Given the description of an element on the screen output the (x, y) to click on. 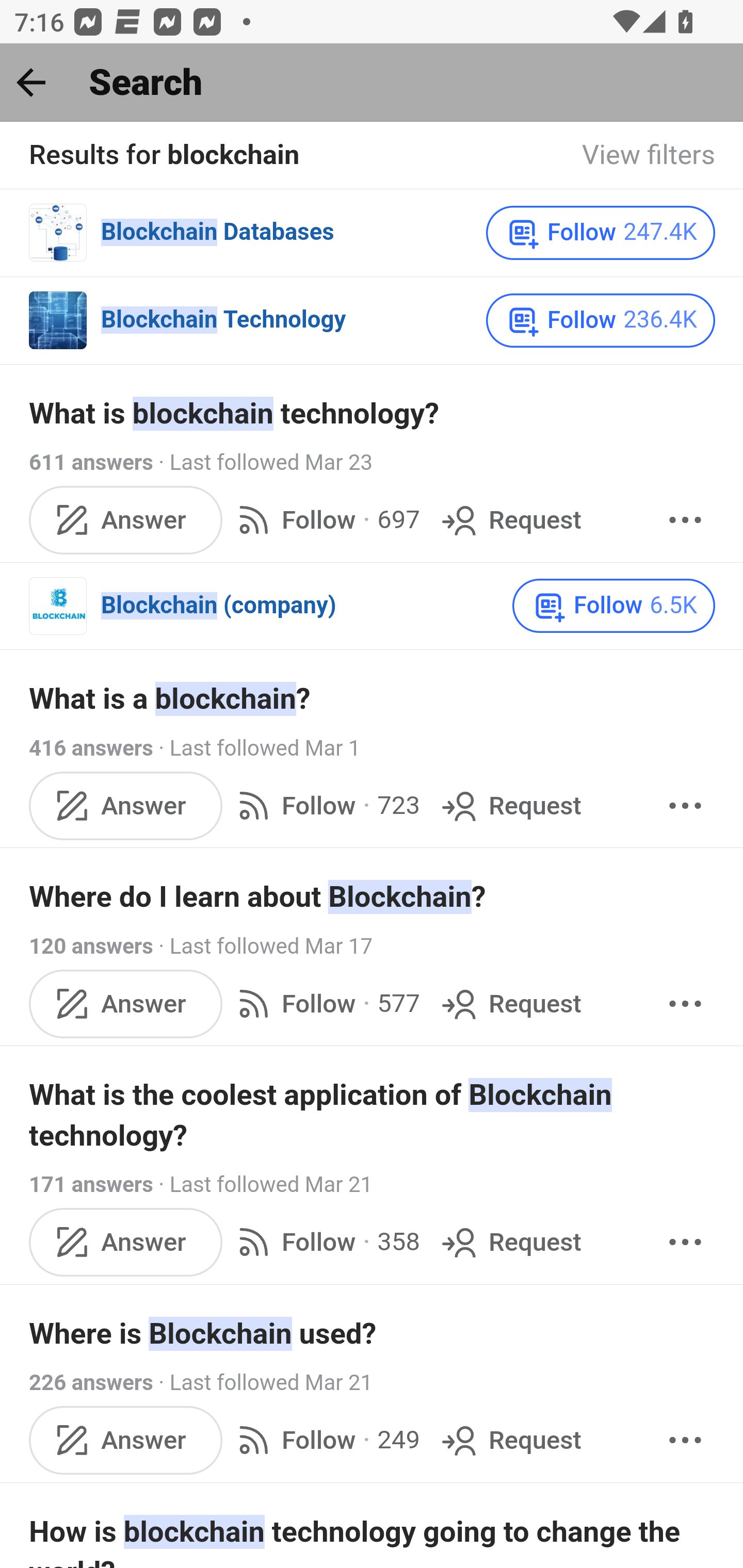
Back Search (371, 82)
Back (30, 82)
View filters (648, 155)
Follow 247.4K (599, 232)
Follow 236.4K (599, 320)
What is blockchain technology? (372, 413)
611 answers 611  answers (90, 463)
Answer (125, 519)
Follow · 697 (324, 519)
Request (509, 519)
More (684, 519)
Follow 6.5K (613, 606)
What is a blockchain? (372, 699)
416 answers 416  answers (90, 748)
Answer (125, 805)
Follow · 723 (324, 805)
Request (509, 805)
More (684, 805)
Where do I learn about Blockchain? (372, 896)
120 answers 120  answers (90, 946)
Answer (125, 1002)
Follow · 577 (324, 1002)
Request (509, 1002)
More (684, 1002)
171 answers 171  answers (90, 1185)
Answer (125, 1240)
Follow · 358 (324, 1240)
Request (509, 1240)
More (684, 1240)
Where is Blockchain used? (372, 1333)
226 answers 226  answers (90, 1382)
Answer (125, 1439)
Follow · 249 (324, 1439)
Request (509, 1439)
More (684, 1439)
